Given the description of an element on the screen output the (x, y) to click on. 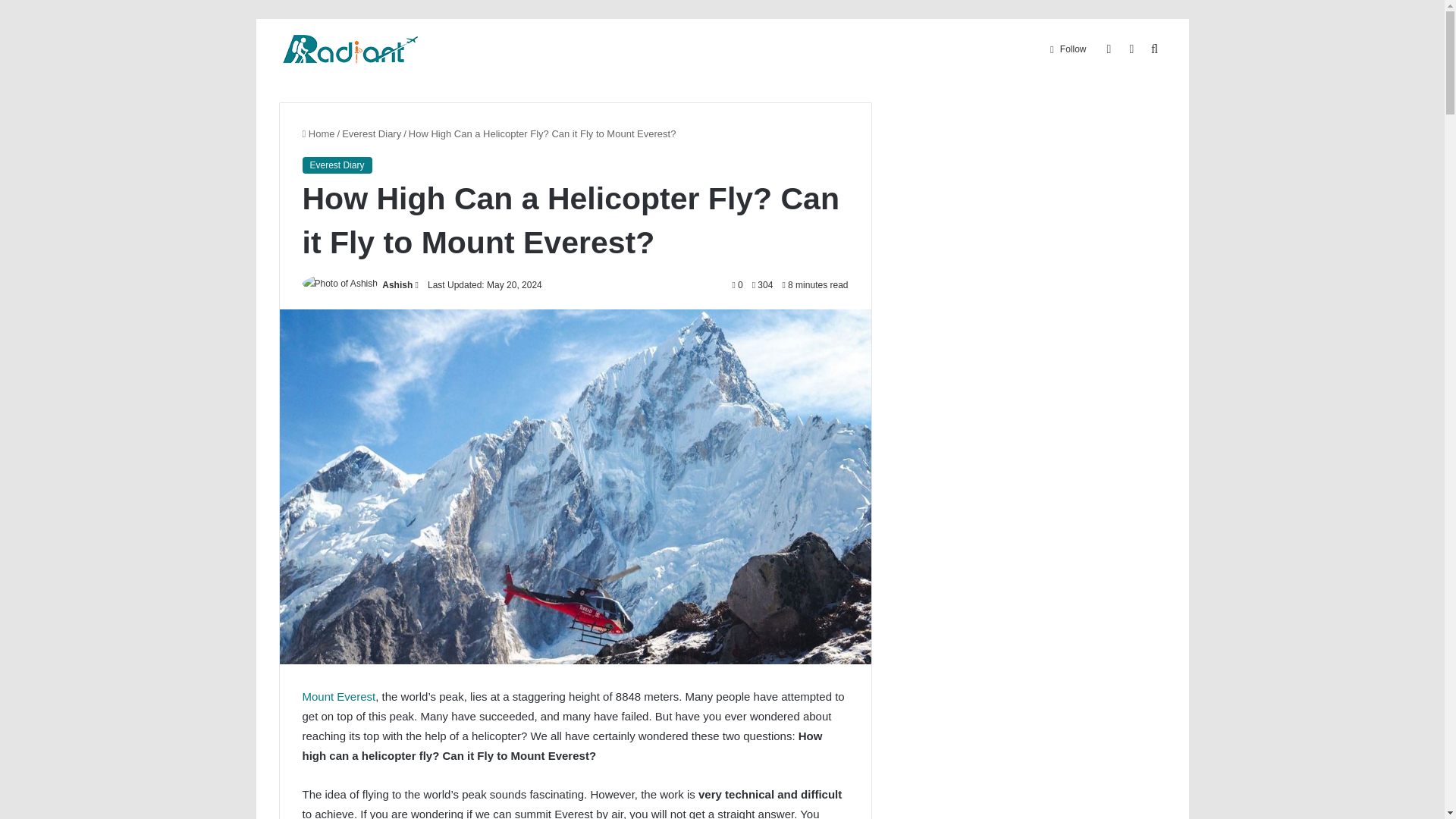
Mount Everest (338, 696)
Follow (1068, 48)
Send an email (416, 285)
Home (317, 133)
Switch skin (1131, 48)
Ashish (396, 285)
Send an email (416, 285)
Everest Diary (336, 165)
Ashish (396, 285)
Everest Diary (371, 133)
Switch skin (1131, 48)
Log In (1109, 48)
Search for (1154, 48)
TrekEBC (350, 48)
